Given the description of an element on the screen output the (x, y) to click on. 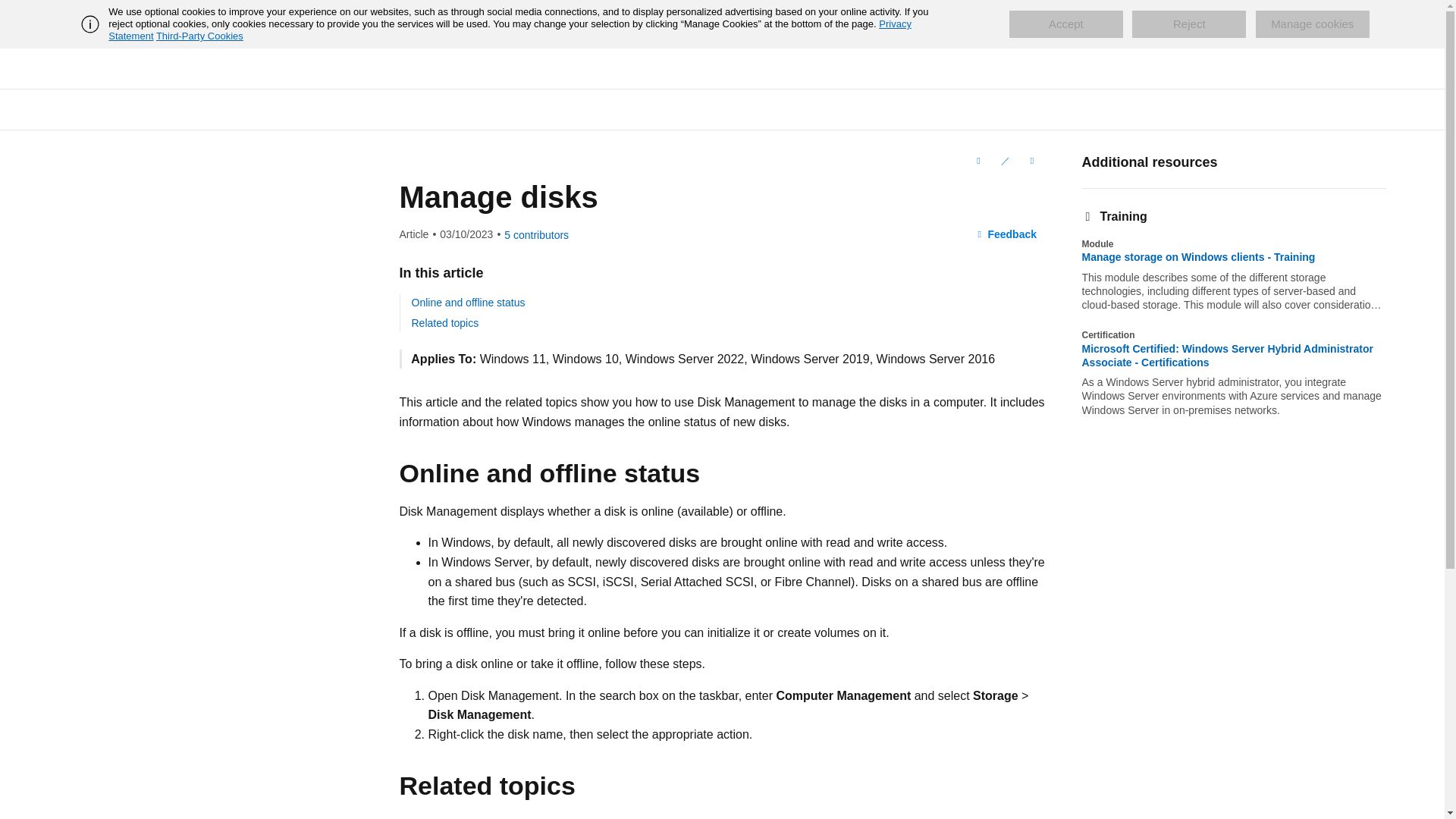
5 contributors (536, 234)
Edit This Document (1004, 160)
Third-Party Cookies (199, 35)
Related topics (444, 322)
Accept (1065, 23)
Feedback (1005, 234)
Online and offline status (467, 302)
Initialize new disks (478, 818)
Skip to main content (11, 11)
Manage cookies (1312, 23)
View all contributors (536, 234)
More actions (1031, 160)
Reject (1189, 23)
Privacy Statement (509, 29)
